Given the description of an element on the screen output the (x, y) to click on. 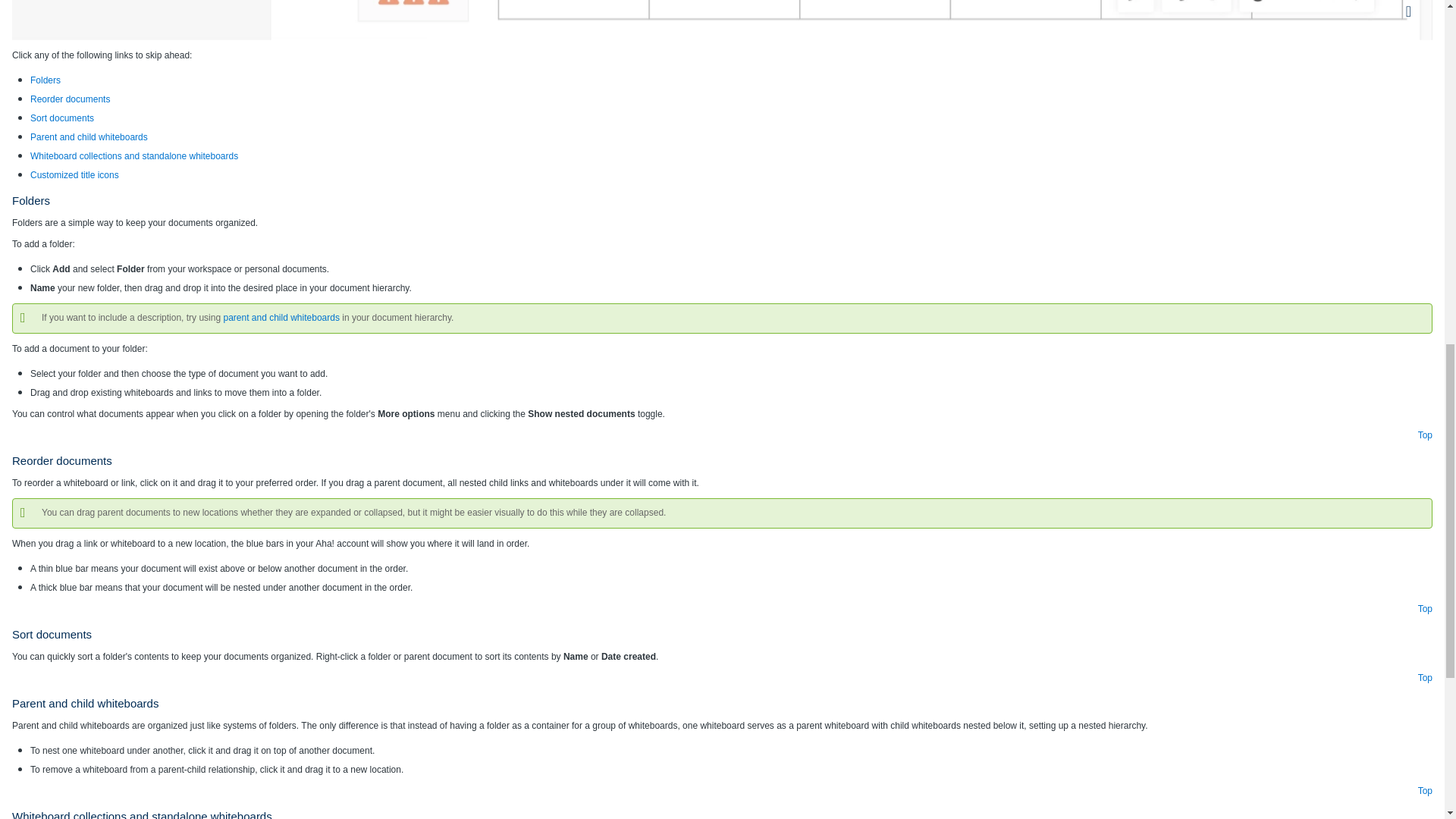
Sort documents (62, 118)
parent and child whiteboards (280, 317)
Top (1425, 434)
Reorder documents (70, 99)
Top (1425, 608)
Top (1425, 677)
Folders (45, 80)
Parent and child whiteboards (89, 136)
Top (1425, 790)
Whiteboard collections and standalone whiteboards (134, 155)
Customized title icons (74, 174)
